Given the description of an element on the screen output the (x, y) to click on. 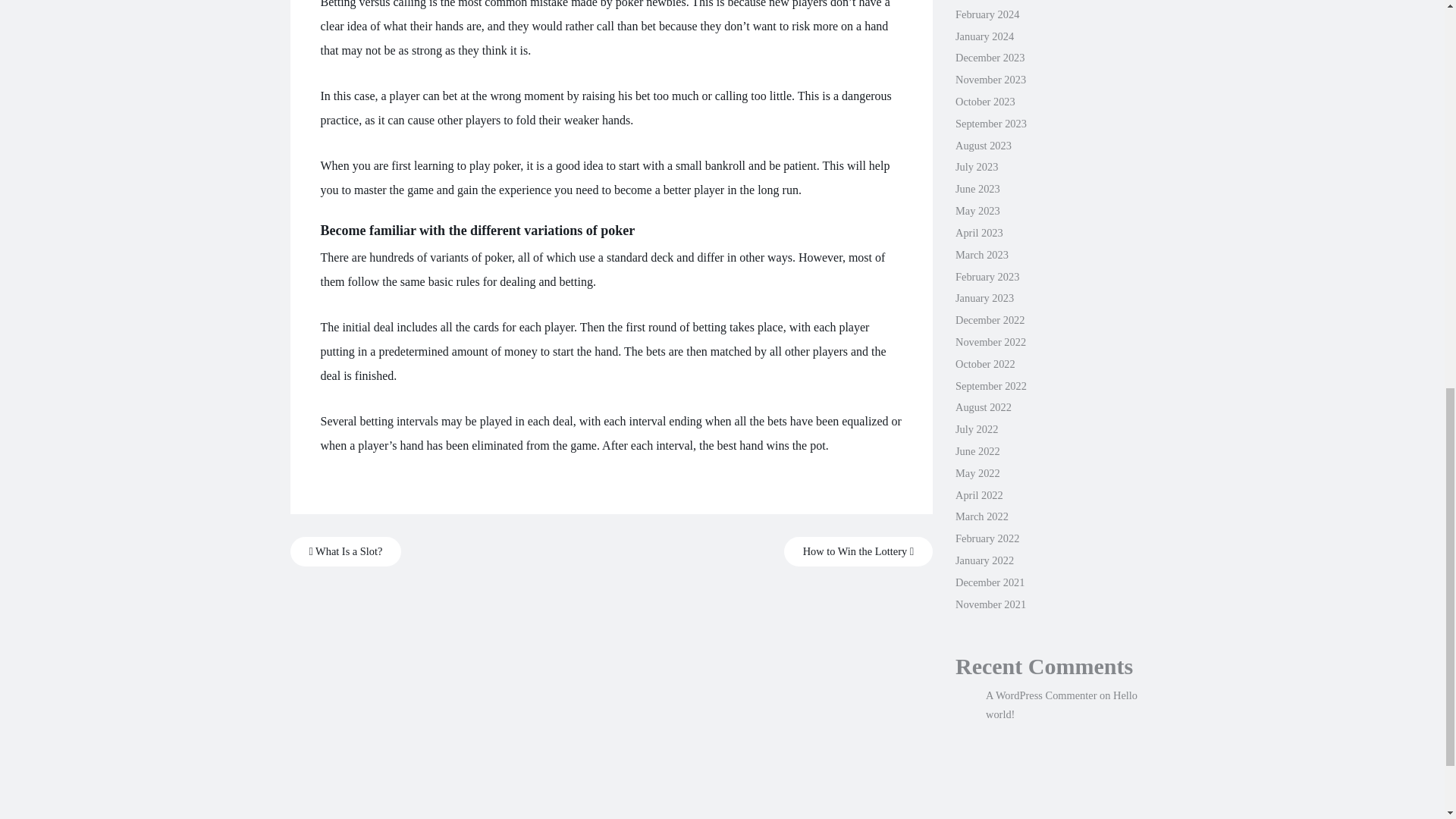
February 2023 (987, 276)
December 2022 (990, 319)
July 2023 (976, 166)
March 2023 (982, 254)
August 2023 (983, 145)
February 2024 (987, 14)
January 2024 (984, 36)
June 2023 (977, 188)
How to Win the Lottery (858, 551)
November 2023 (990, 79)
May 2023 (977, 210)
December 2023 (990, 57)
What Is a Slot? (345, 551)
September 2023 (990, 123)
April 2023 (979, 232)
